Given the description of an element on the screen output the (x, y) to click on. 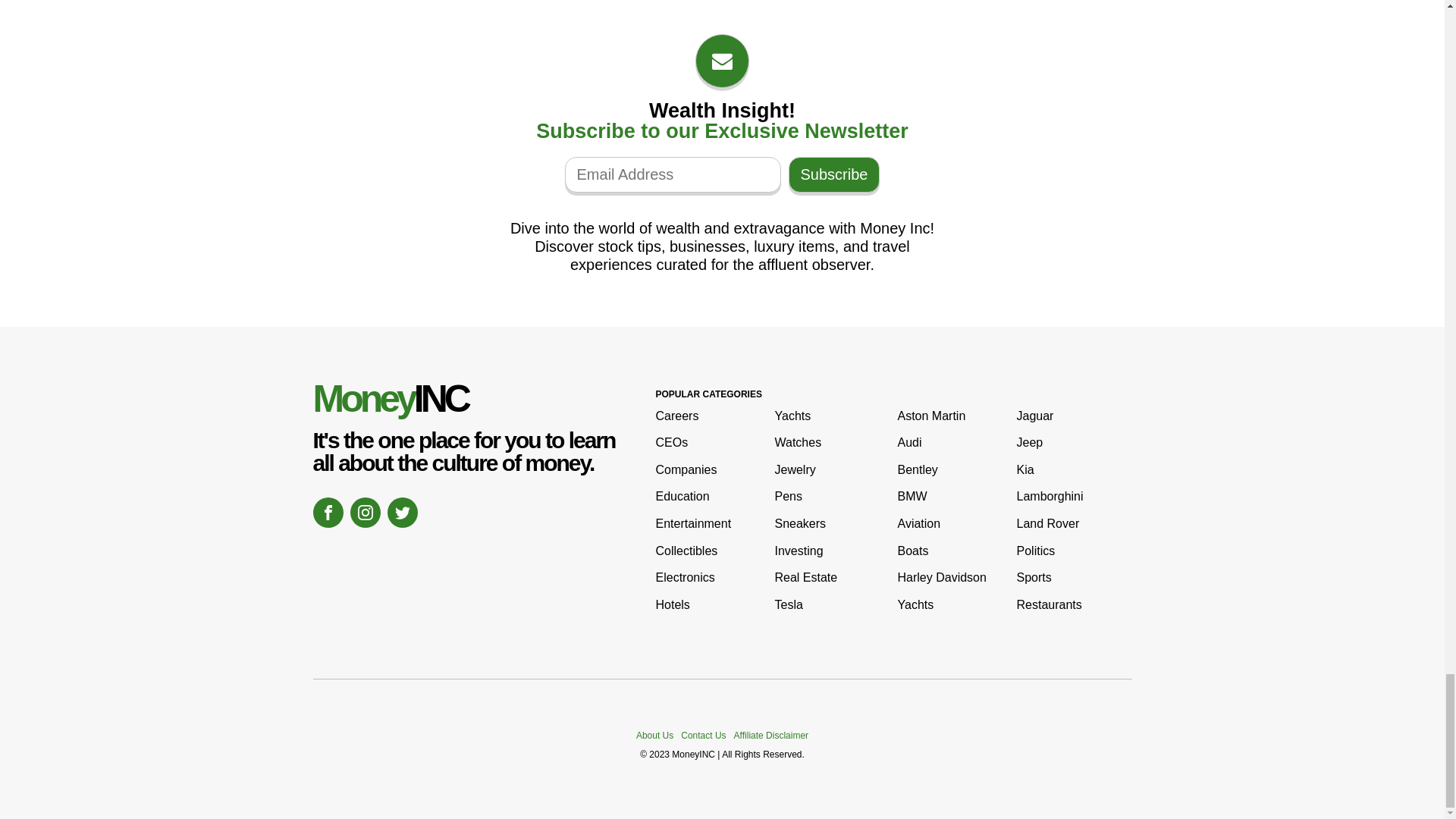
Subscribe (834, 174)
